Given the description of an element on the screen output the (x, y) to click on. 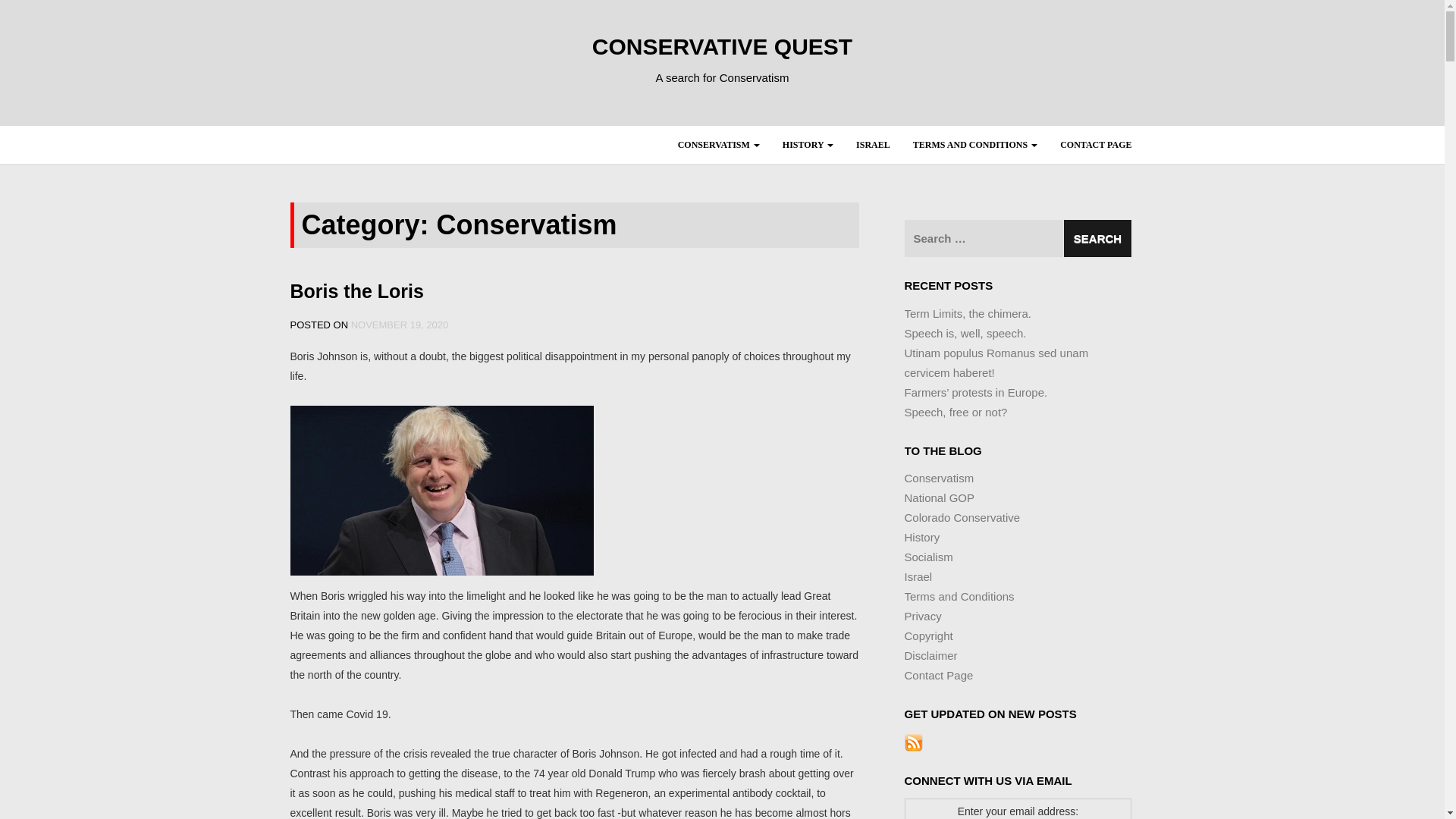
Boris the Loris (356, 291)
Terms and Conditions (974, 144)
Contact Page (1095, 144)
History (807, 144)
Israel (872, 144)
CONTACT PAGE (1095, 144)
Search (1096, 238)
ISRAEL (872, 144)
CONSERVATIVE QUEST (721, 46)
HISTORY (807, 144)
